Given the description of an element on the screen output the (x, y) to click on. 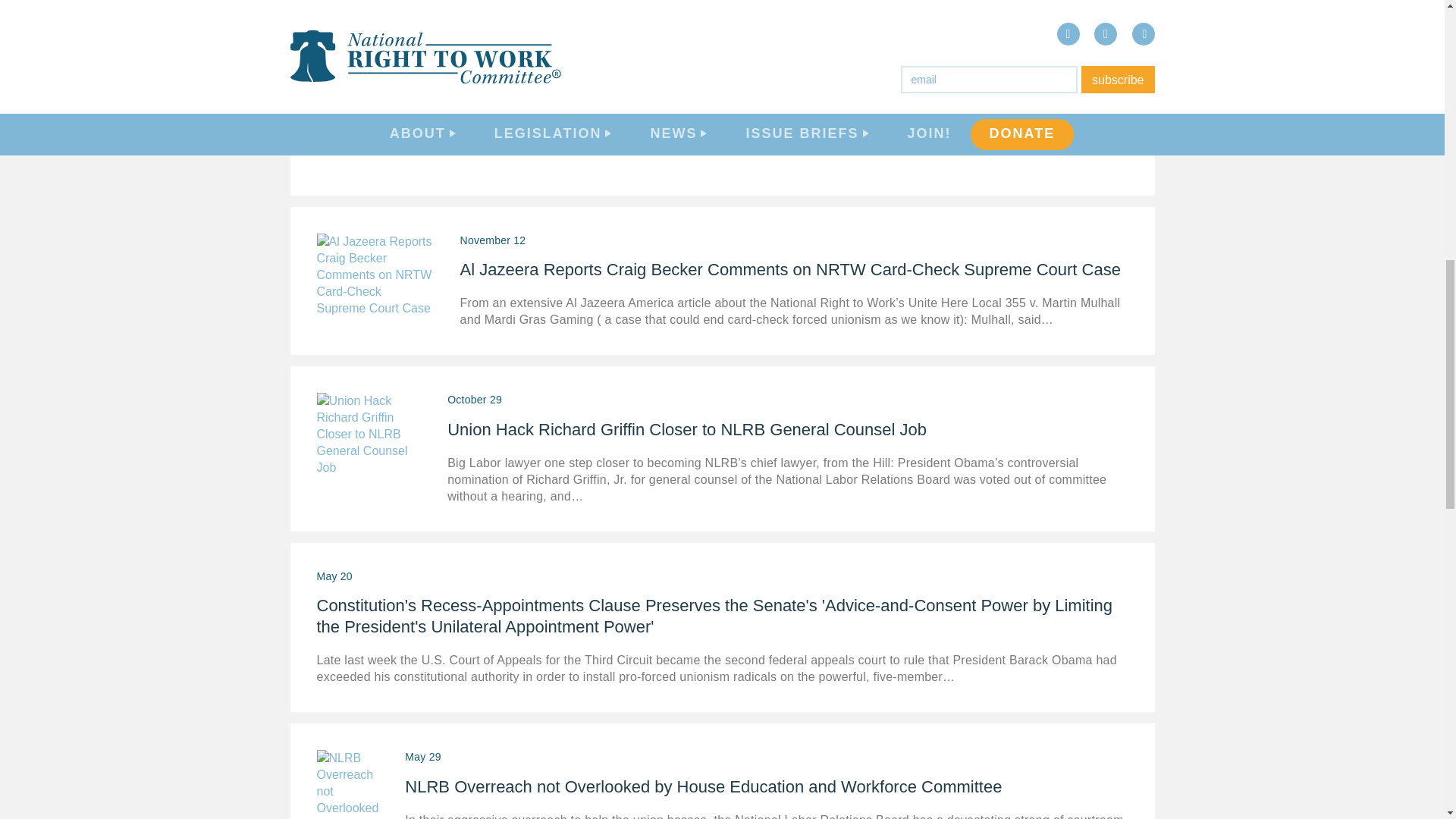
NRTWC on Facebook (1228, 199)
NRTWC on Twitter (1269, 199)
NRTWC on YouTube (1311, 199)
